Given the description of an element on the screen output the (x, y) to click on. 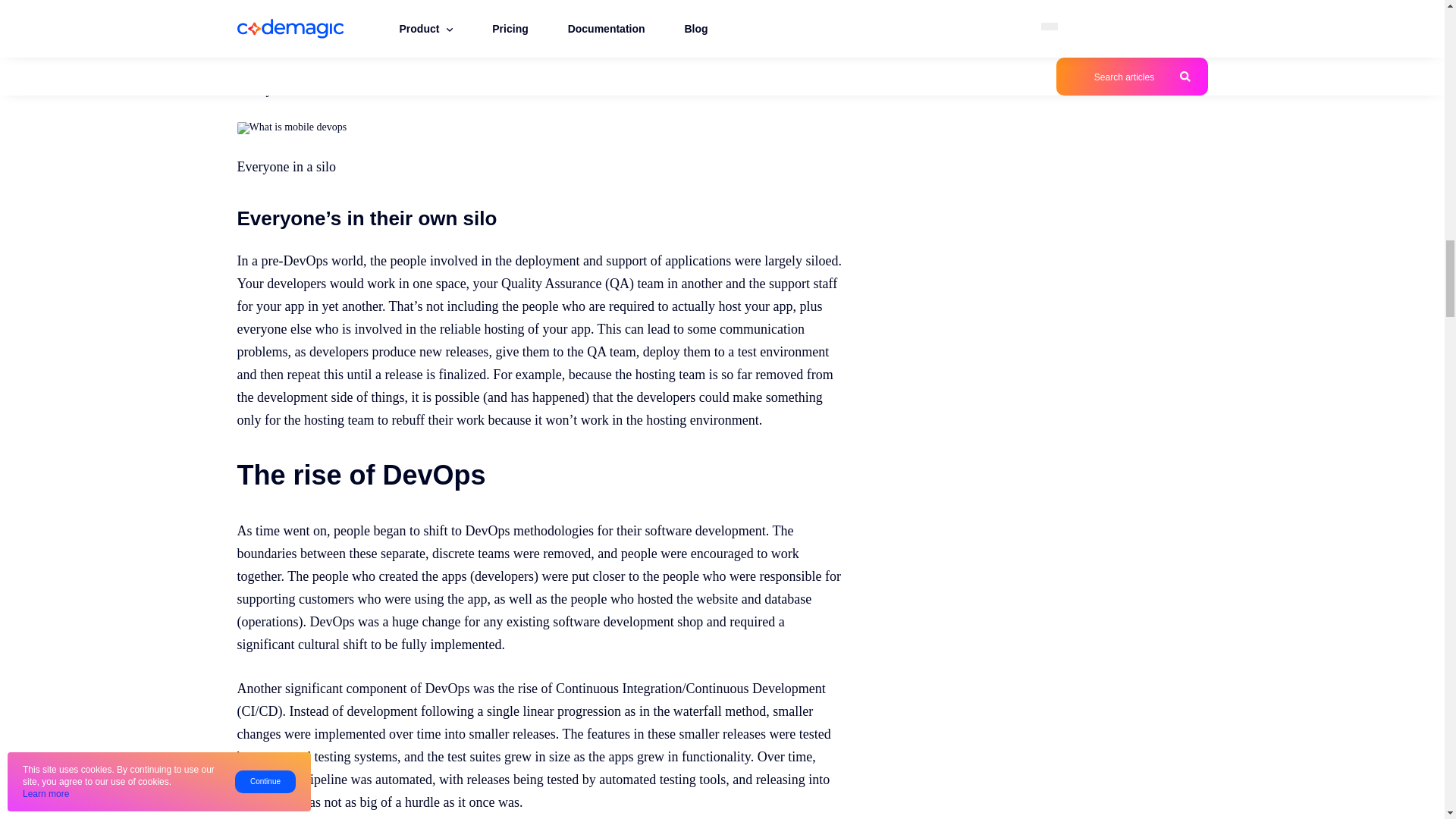
Everyone in a silo (290, 128)
